Given the description of an element on the screen output the (x, y) to click on. 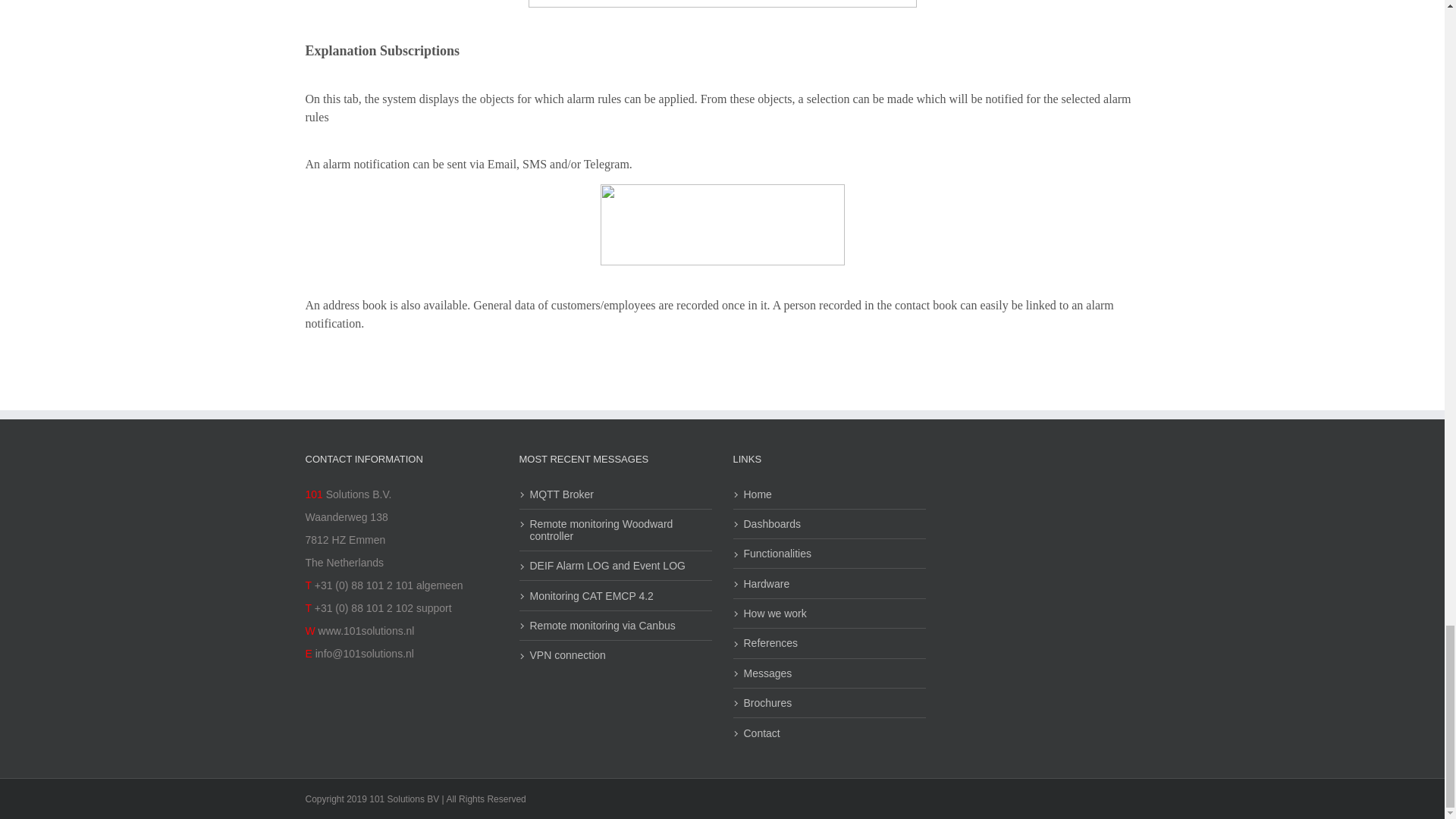
References (828, 643)
Home (828, 493)
DEIF Alarm LOG and Event LOG (614, 565)
Dashboards (828, 523)
Monitoring CAT EMCP 4.2 (614, 595)
Hardware (828, 583)
VPN connection (614, 654)
Remote monitoring Woodward controller (614, 529)
Functionalities (828, 553)
MQTT Broker (614, 493)
